Given the description of an element on the screen output the (x, y) to click on. 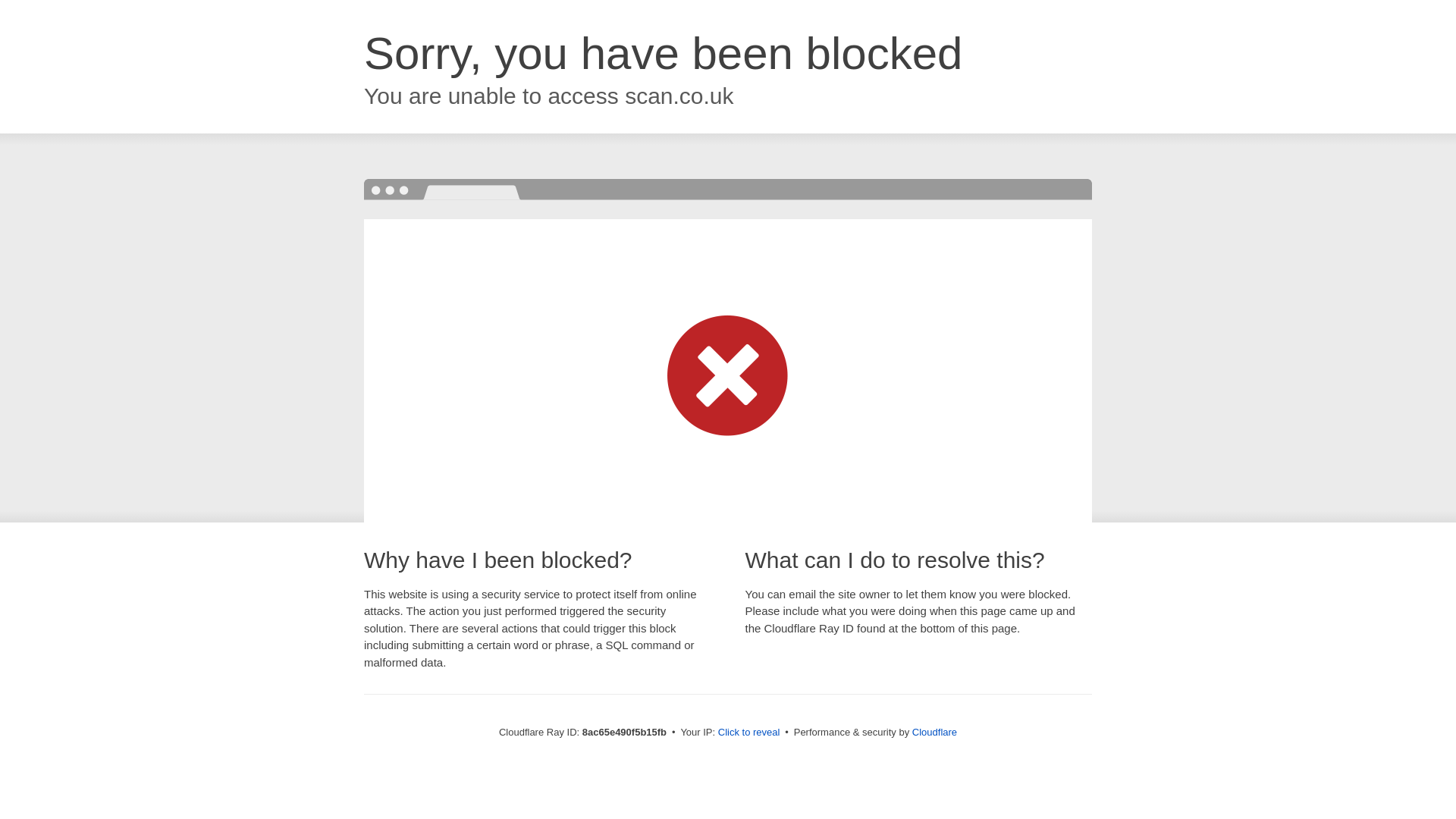
Cloudflare (934, 731)
Click to reveal (748, 732)
